Given the description of an element on the screen output the (x, y) to click on. 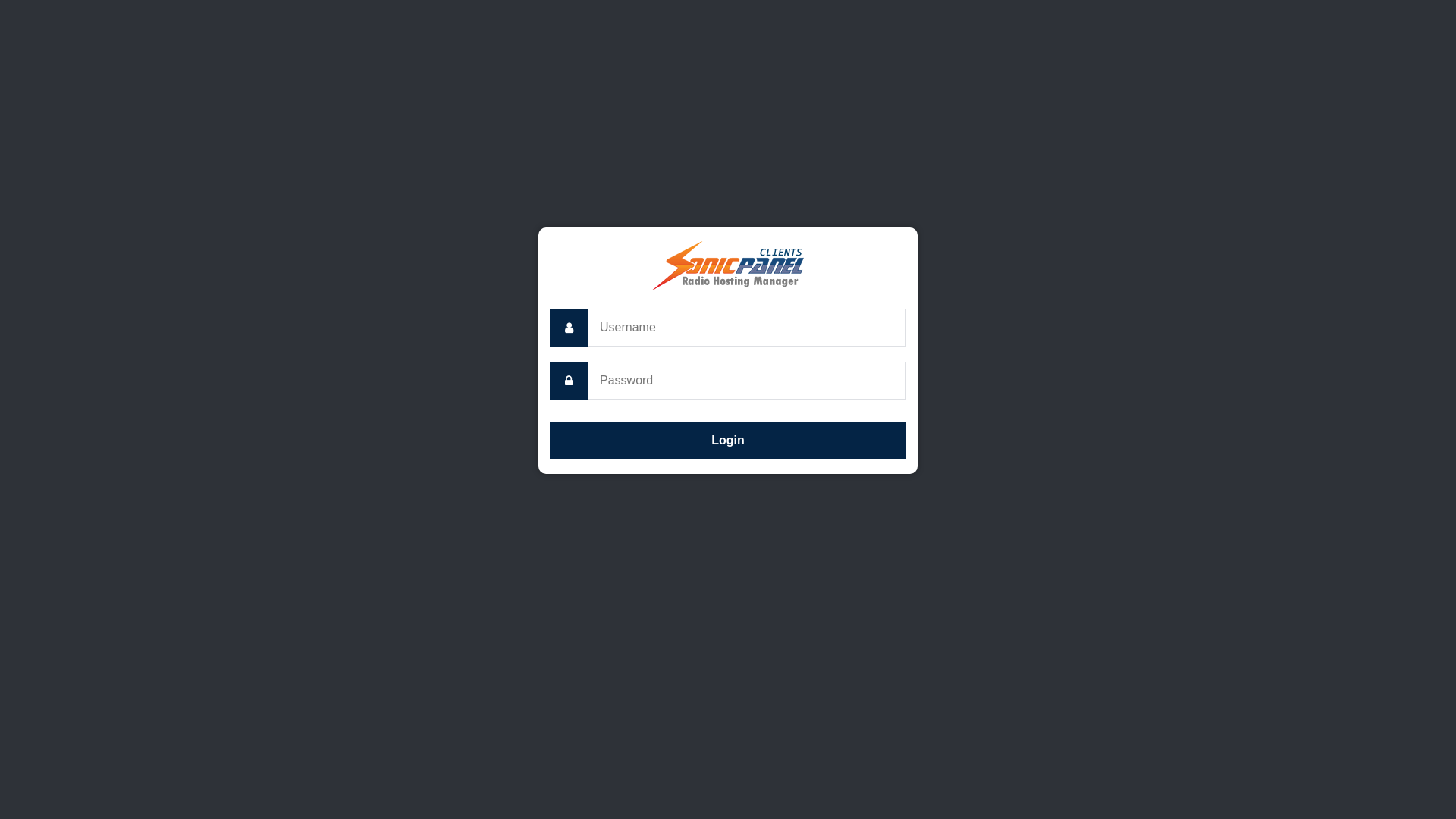
Login Element type: text (727, 440)
